Given the description of an element on the screen output the (x, y) to click on. 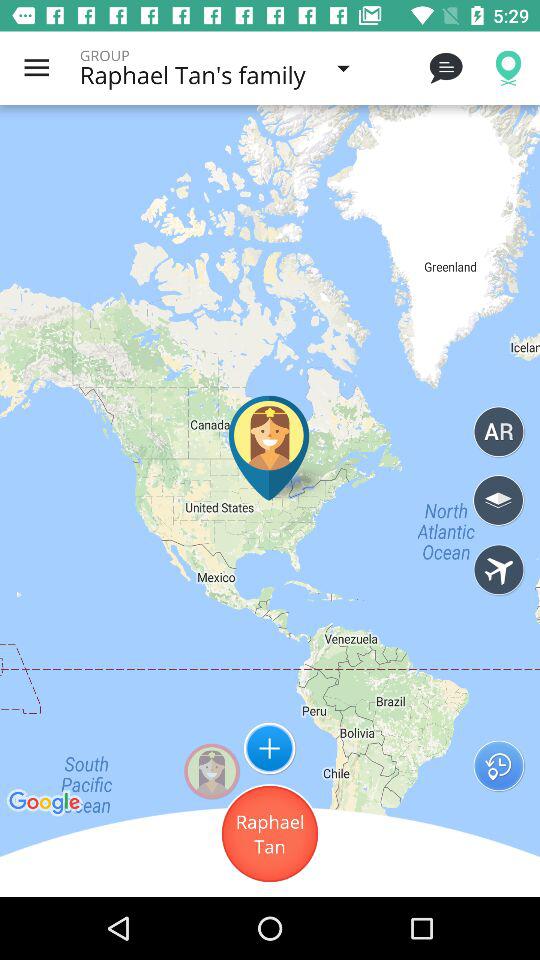
open map layers (498, 500)
